Given the description of an element on the screen output the (x, y) to click on. 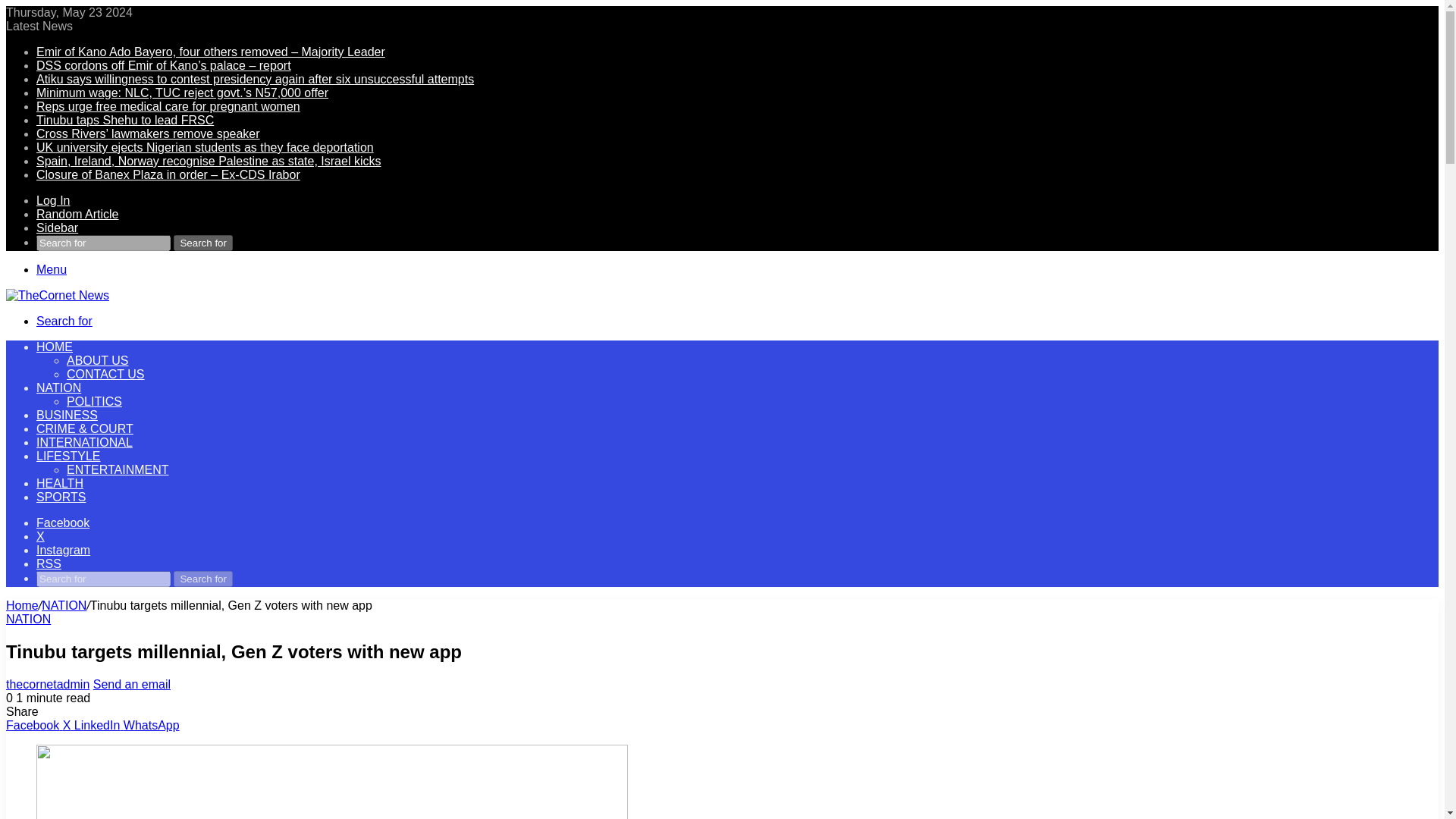
TheCornet News (57, 295)
WhatsApp (151, 725)
Search for (202, 578)
thecornetadmin (46, 684)
Search for (64, 320)
Log In (52, 200)
LinkedIn (98, 725)
Search for (103, 242)
NATION (58, 387)
Tinubu taps Shehu to lead FRSC (125, 119)
